Given the description of an element on the screen output the (x, y) to click on. 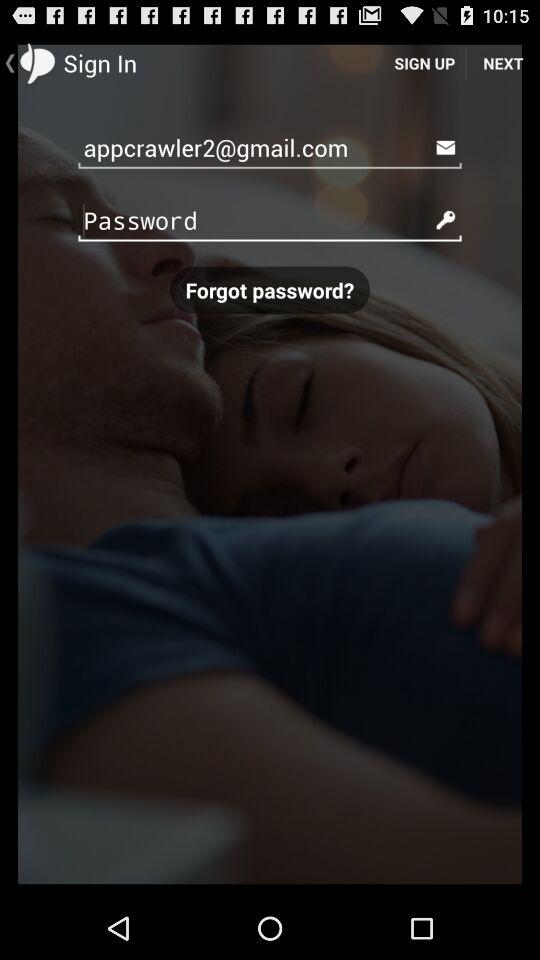
choose the item to the right of the sign in item (424, 62)
